Given the description of an element on the screen output the (x, y) to click on. 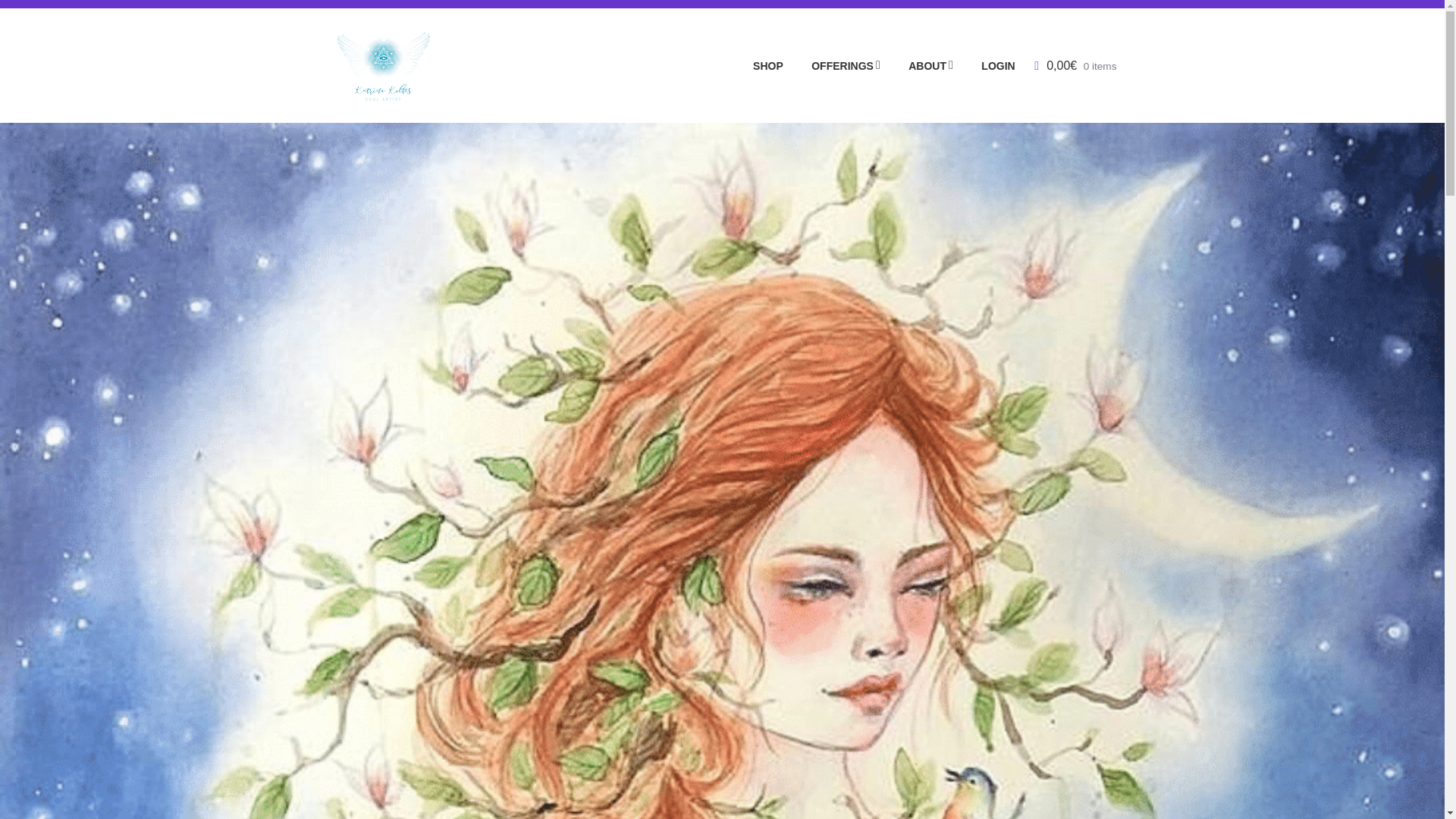
LOGIN (985, 65)
SHOP (754, 65)
ABOUT (918, 65)
KATRINA KOLTES (585, 43)
View your shopping cart (1074, 65)
OFFERINGS (833, 65)
